Given the description of an element on the screen output the (x, y) to click on. 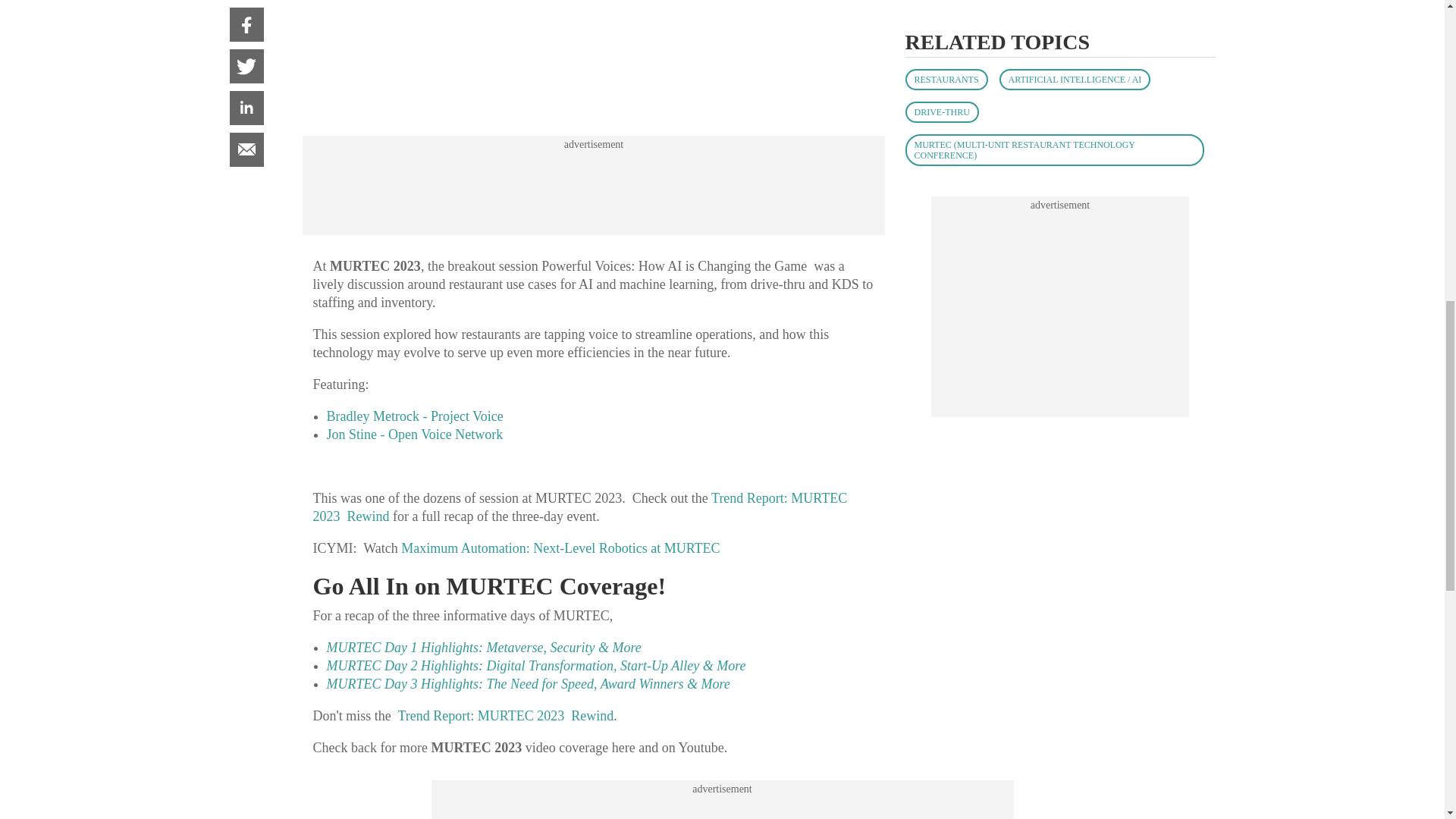
Maximum Automation: Next-Level Robotics at MURTEC (560, 548)
3rd party ad content (593, 185)
Trend Report: MURTEC 2023  Rewind (580, 507)
Trend Report: MURTEC 2023  Rewind (504, 715)
Jon Stine - Open Voice Network (414, 434)
Bradley Metrock - Project Voice (414, 416)
Content Video Embed (594, 56)
3rd party ad content (721, 807)
